Given the description of an element on the screen output the (x, y) to click on. 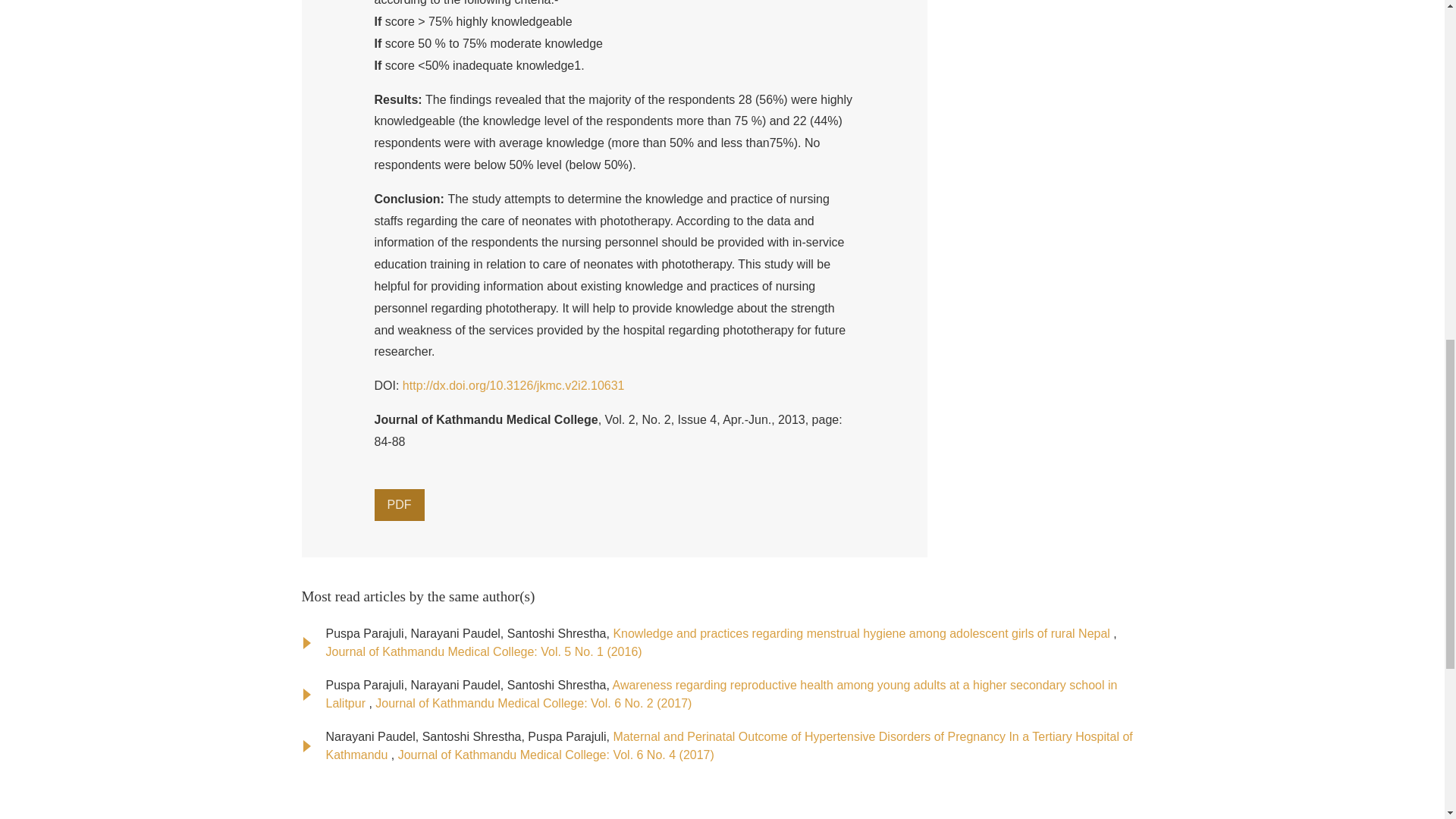
PDF (399, 504)
